Given the description of an element on the screen output the (x, y) to click on. 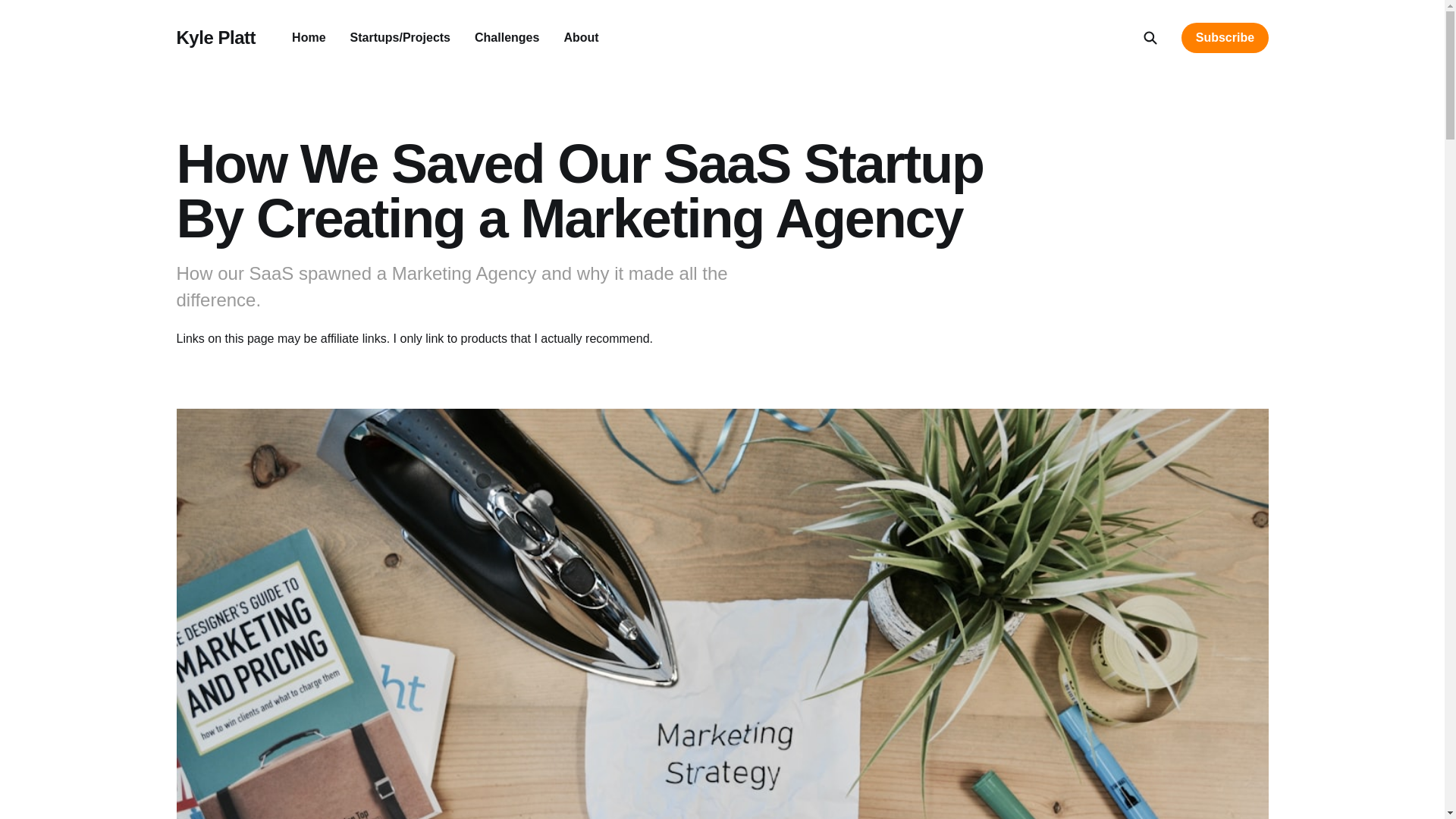
Subscribe (1224, 37)
About (580, 37)
Kyle Platt (216, 37)
Home (308, 37)
Challenges (506, 37)
